Given the description of an element on the screen output the (x, y) to click on. 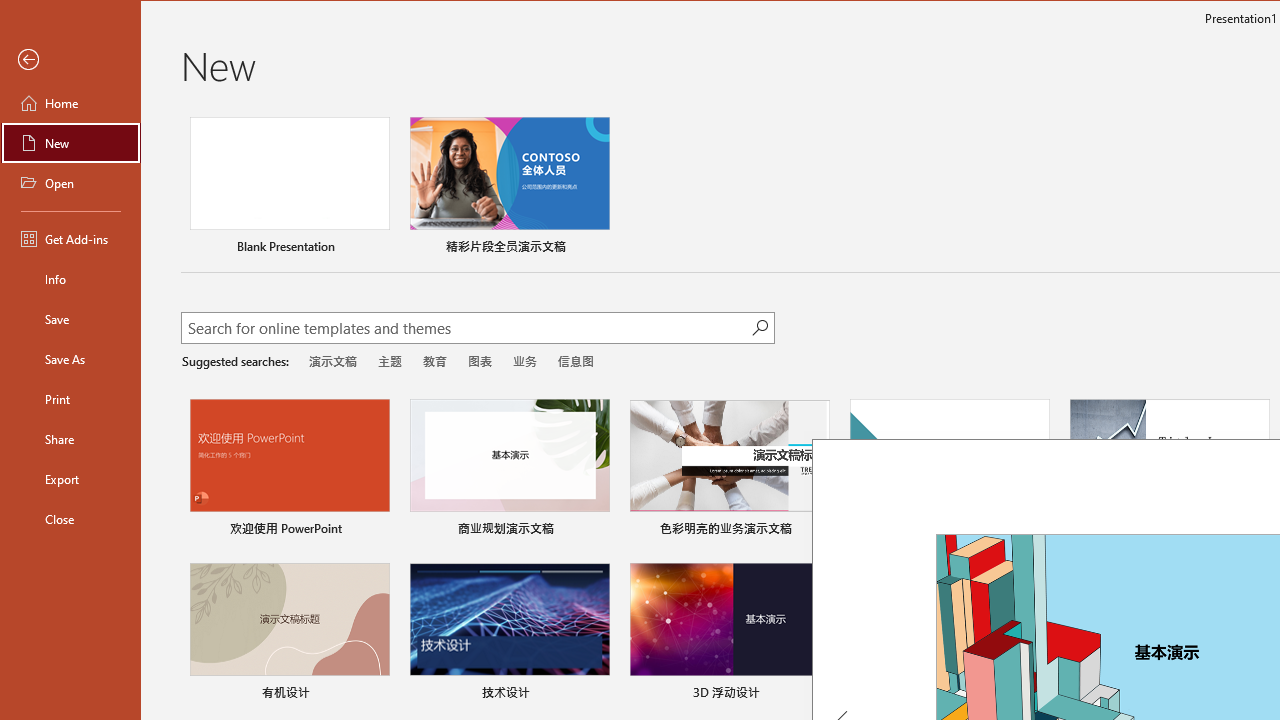
Save As (70, 358)
New (70, 142)
Get Add-ins (70, 238)
Pin to list (1256, 695)
